Given the description of an element on the screen output the (x, y) to click on. 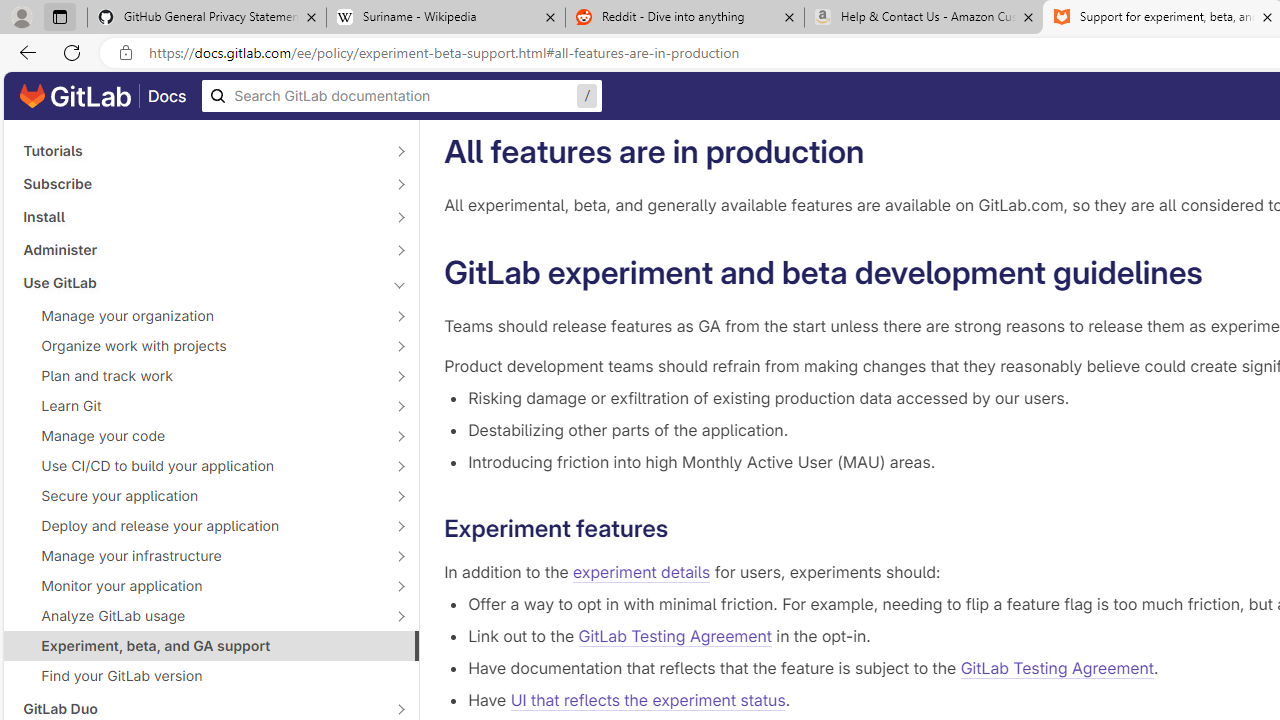
Monitor your application (199, 585)
GitLab Testing Agreement (1057, 668)
Manage your code (199, 435)
Use CI/CD to build your application (199, 465)
Install (199, 216)
Deploy and release your application (199, 525)
Secure your application (199, 495)
Plan and track work (199, 375)
GitLab documentation home (75, 96)
Administer (199, 249)
Experiment, beta, and GA support (211, 645)
GitHub General Privacy Statement - GitHub Docs (207, 17)
